Given the description of an element on the screen output the (x, y) to click on. 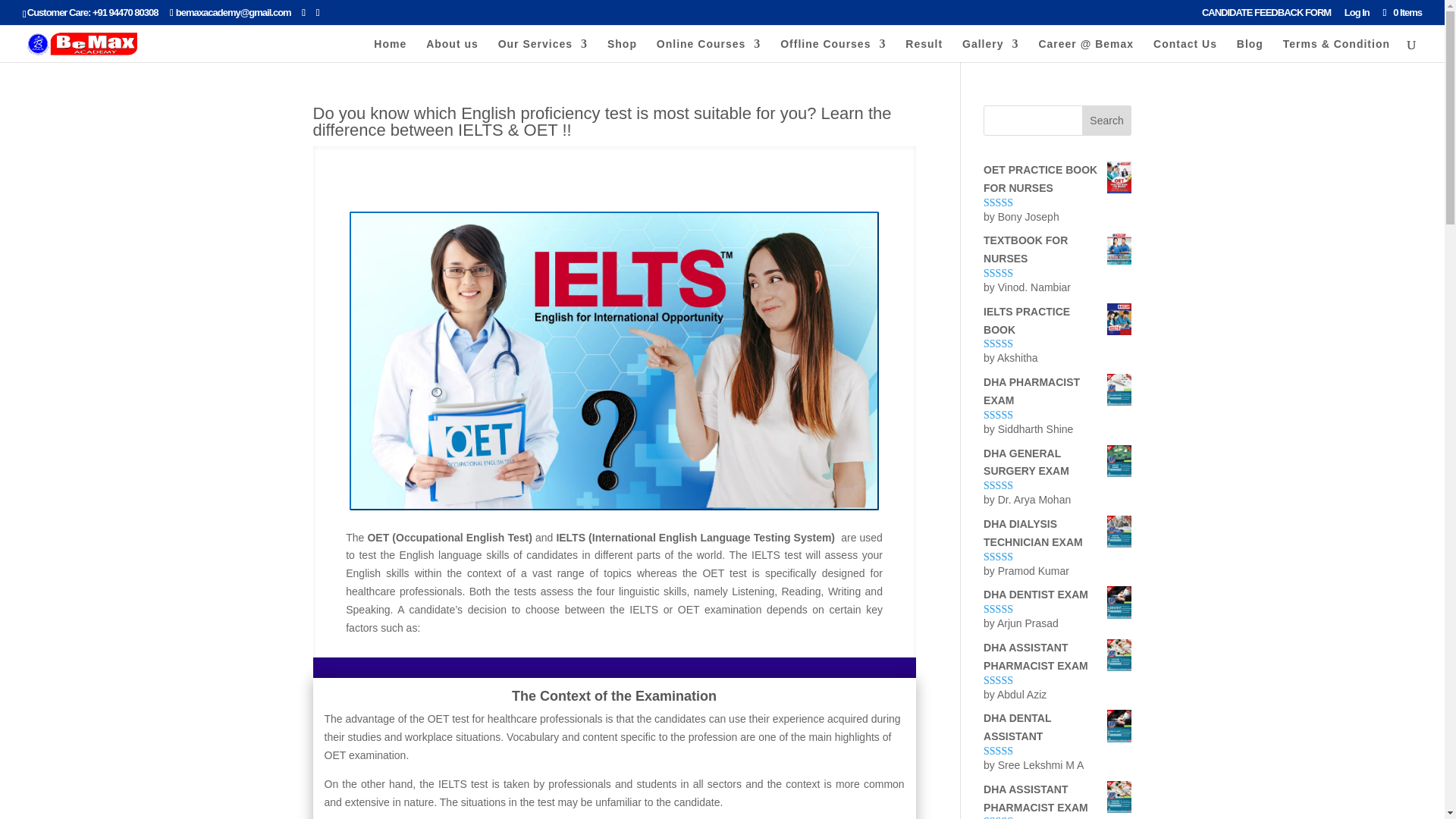
Home (390, 49)
Online Courses (708, 49)
Log In (1356, 16)
Search (1106, 120)
Offline Courses (832, 49)
Shop (622, 49)
About us (452, 49)
CANDIDATE FEEDBACK FORM (1266, 16)
Our Services (542, 49)
0 Items (1401, 12)
